Given the description of an element on the screen output the (x, y) to click on. 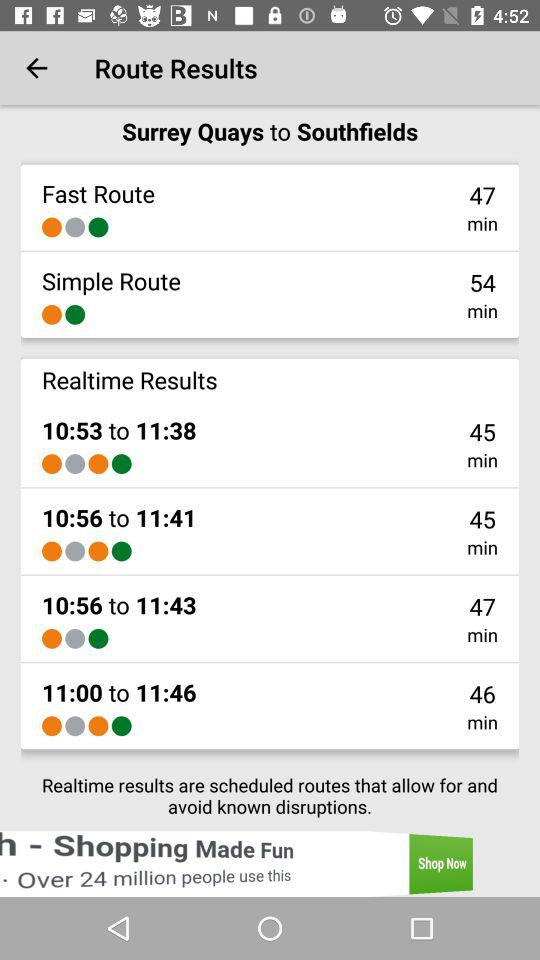
select the icon to the left of route results (36, 68)
